Given the description of an element on the screen output the (x, y) to click on. 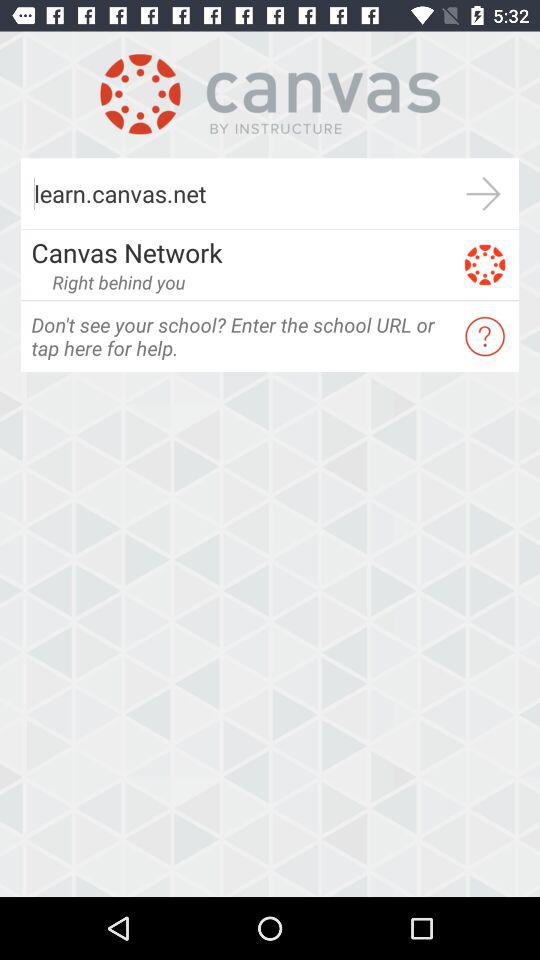
click the icon above don t see icon (118, 282)
